Given the description of an element on the screen output the (x, y) to click on. 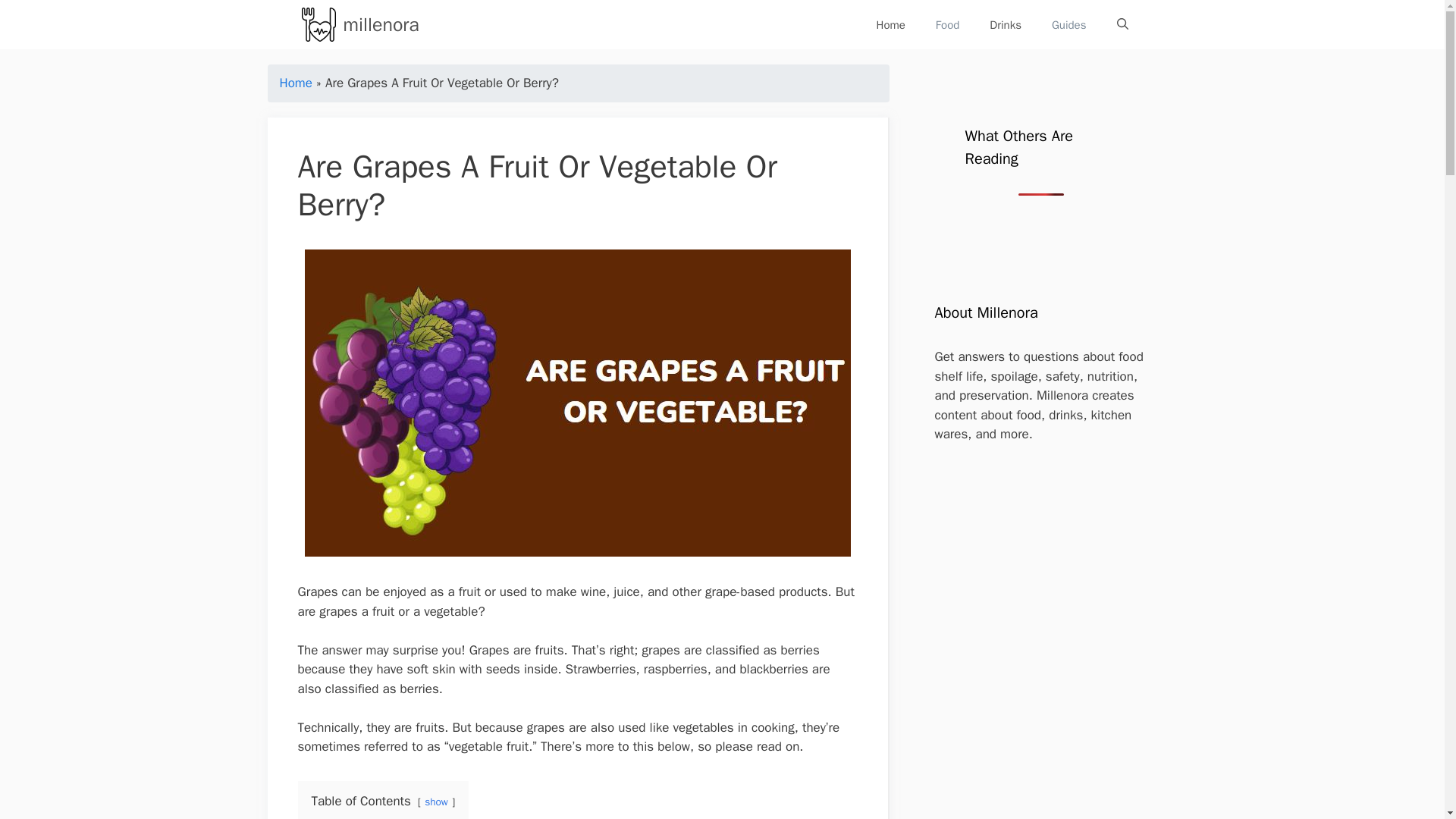
Home (295, 82)
Food (947, 23)
show (436, 801)
Drinks (1005, 23)
Home (890, 23)
millenora (380, 24)
Guides (1069, 23)
